Given the description of an element on the screen output the (x, y) to click on. 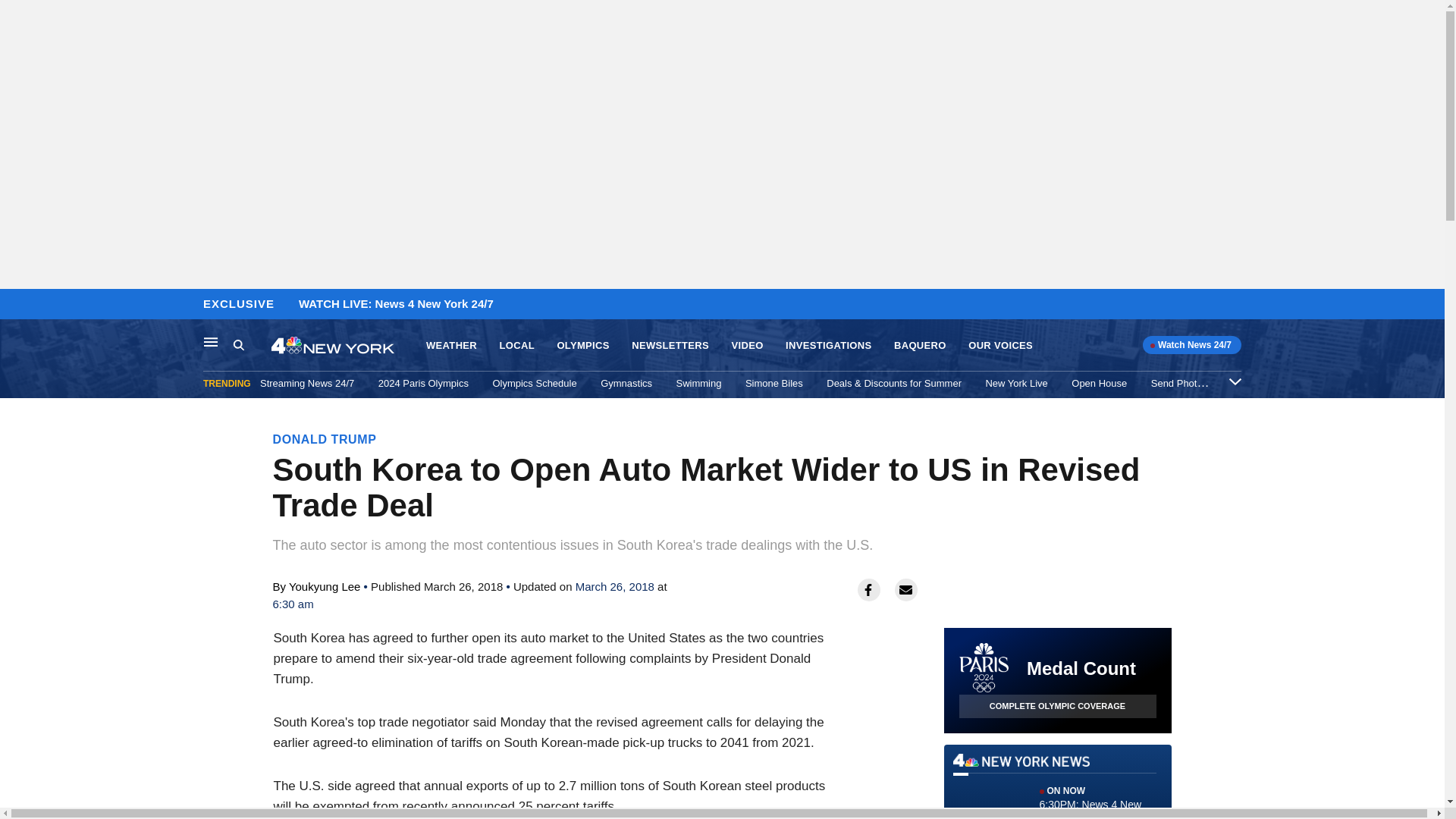
Expand (1234, 381)
Search (252, 345)
Search (238, 344)
INVESTIGATIONS (828, 345)
OLYMPICS (582, 345)
LOCAL (516, 345)
BAQUERO (919, 345)
New York Live (1015, 383)
NEWSLETTERS (670, 345)
Main Navigation (210, 341)
Swimming (699, 383)
Olympics Schedule (534, 383)
Skip to content (16, 304)
WEATHER (451, 345)
Open House (1098, 383)
